Given the description of an element on the screen output the (x, y) to click on. 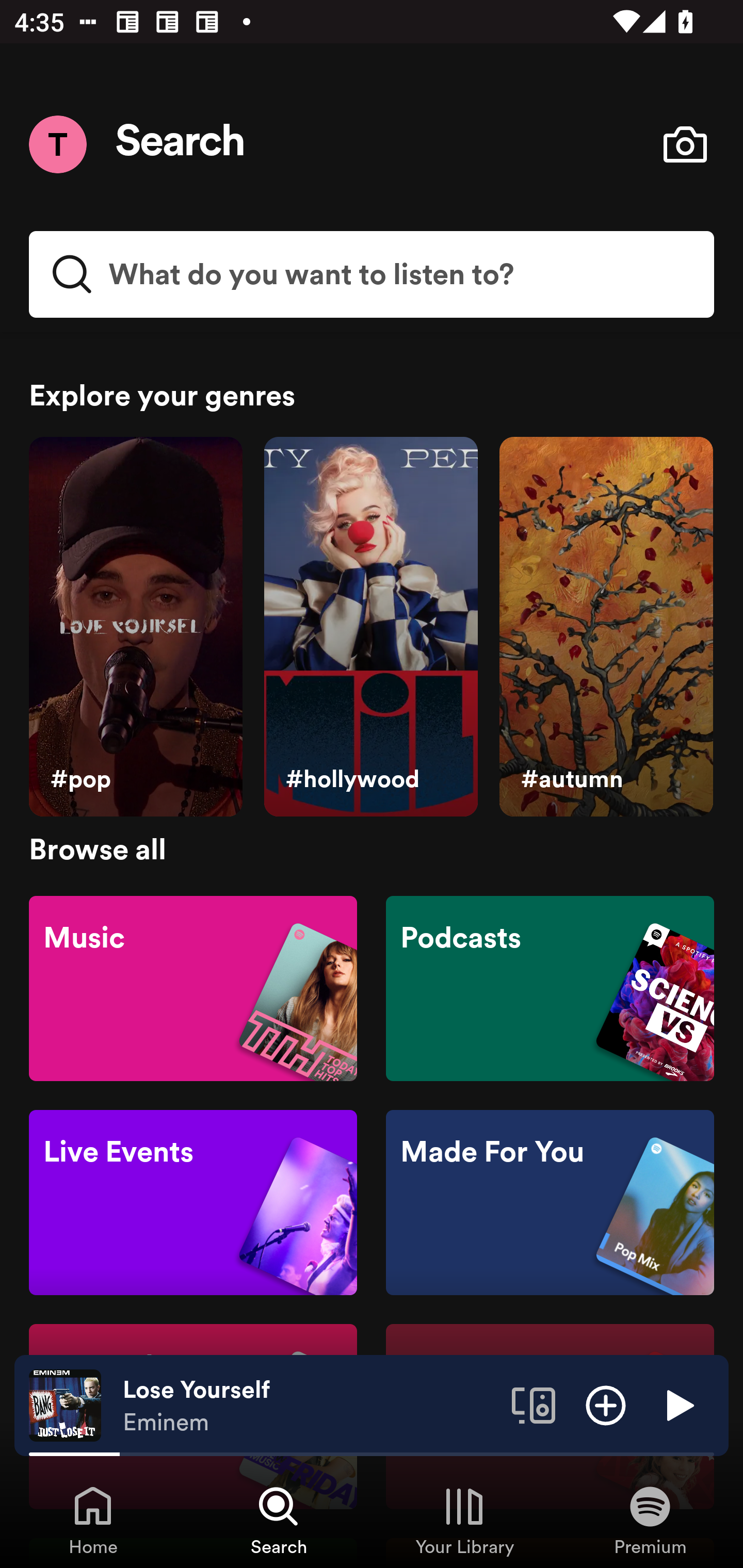
Menu (57, 144)
Open camera (685, 145)
Search (180, 144)
#pop (135, 626)
#hollywood (370, 626)
#autumn (606, 626)
Music (192, 987)
Podcasts (549, 987)
Live Events (192, 1202)
Made For You (549, 1202)
Lose Yourself Eminem (309, 1405)
The cover art of the currently playing track (64, 1404)
Connect to a device. Opens the devices menu (533, 1404)
Add item (605, 1404)
Play (677, 1404)
Home, Tab 1 of 4 Home Home (92, 1519)
Search, Tab 2 of 4 Search Search (278, 1519)
Your Library, Tab 3 of 4 Your Library Your Library (464, 1519)
Premium, Tab 4 of 4 Premium Premium (650, 1519)
